Given the description of an element on the screen output the (x, y) to click on. 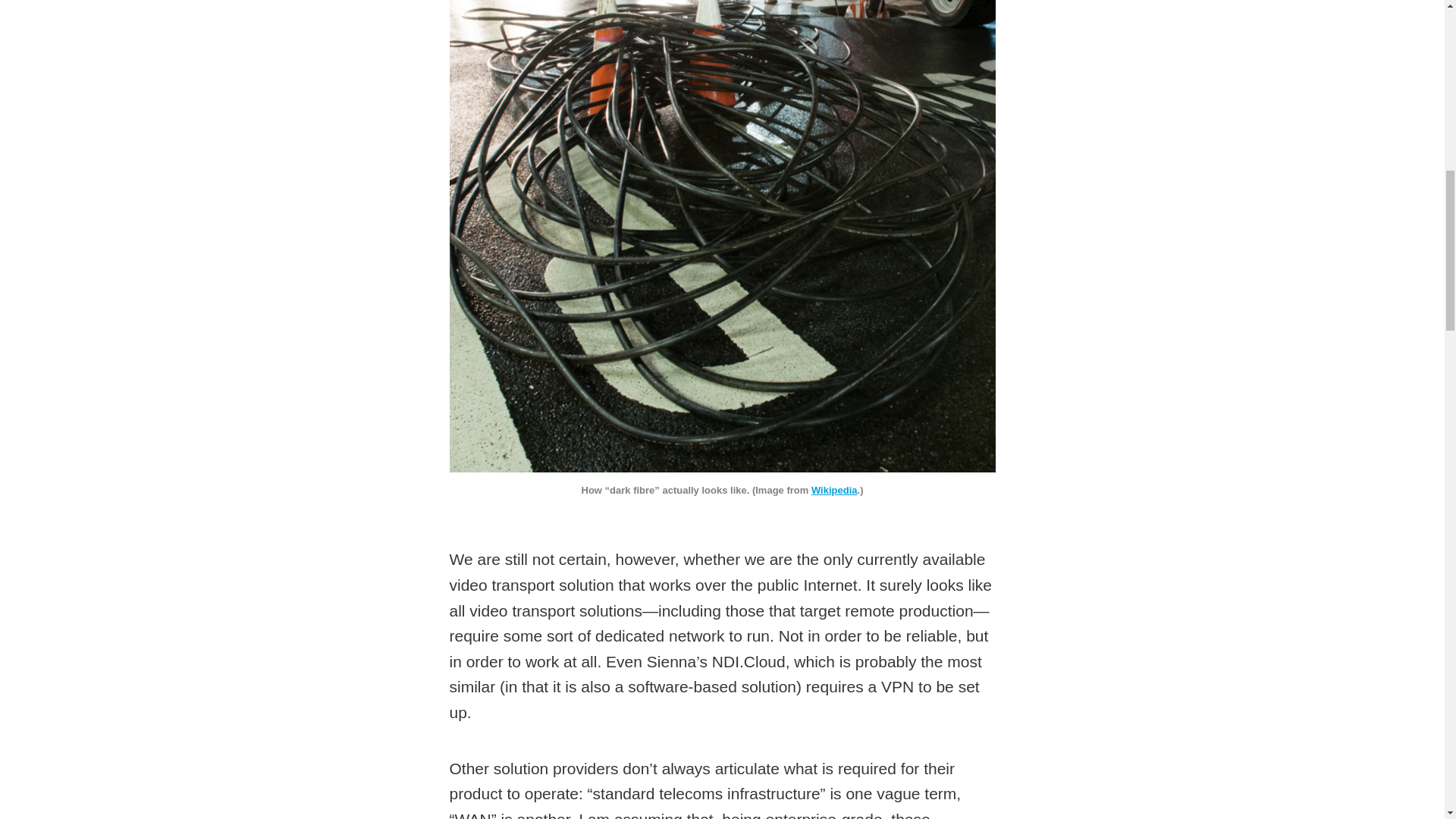
Wikipedia (833, 490)
